Given the description of an element on the screen output the (x, y) to click on. 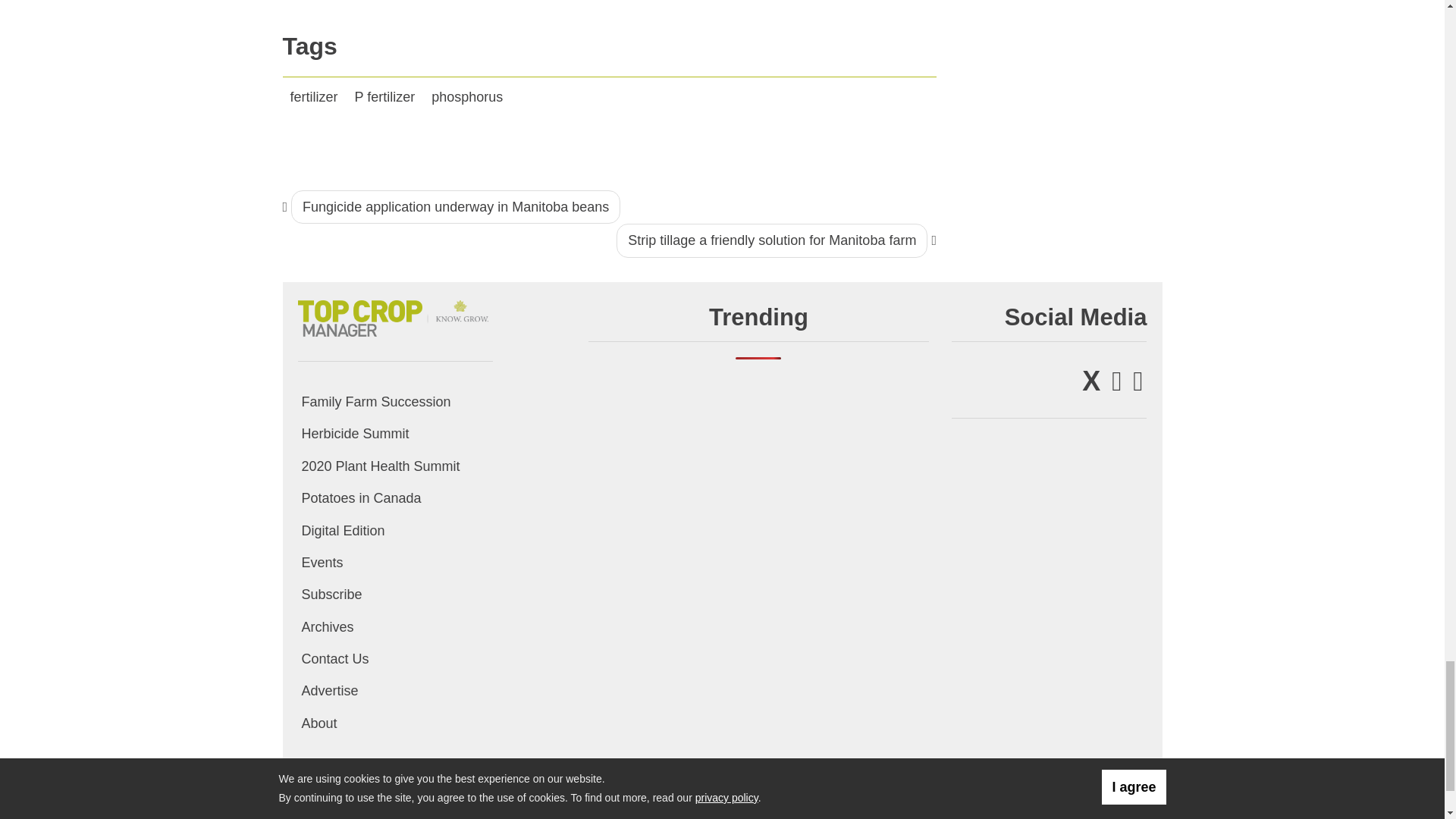
Annex Business Media (1077, 800)
Top Crop Manager (395, 315)
